Given the description of an element on the screen output the (x, y) to click on. 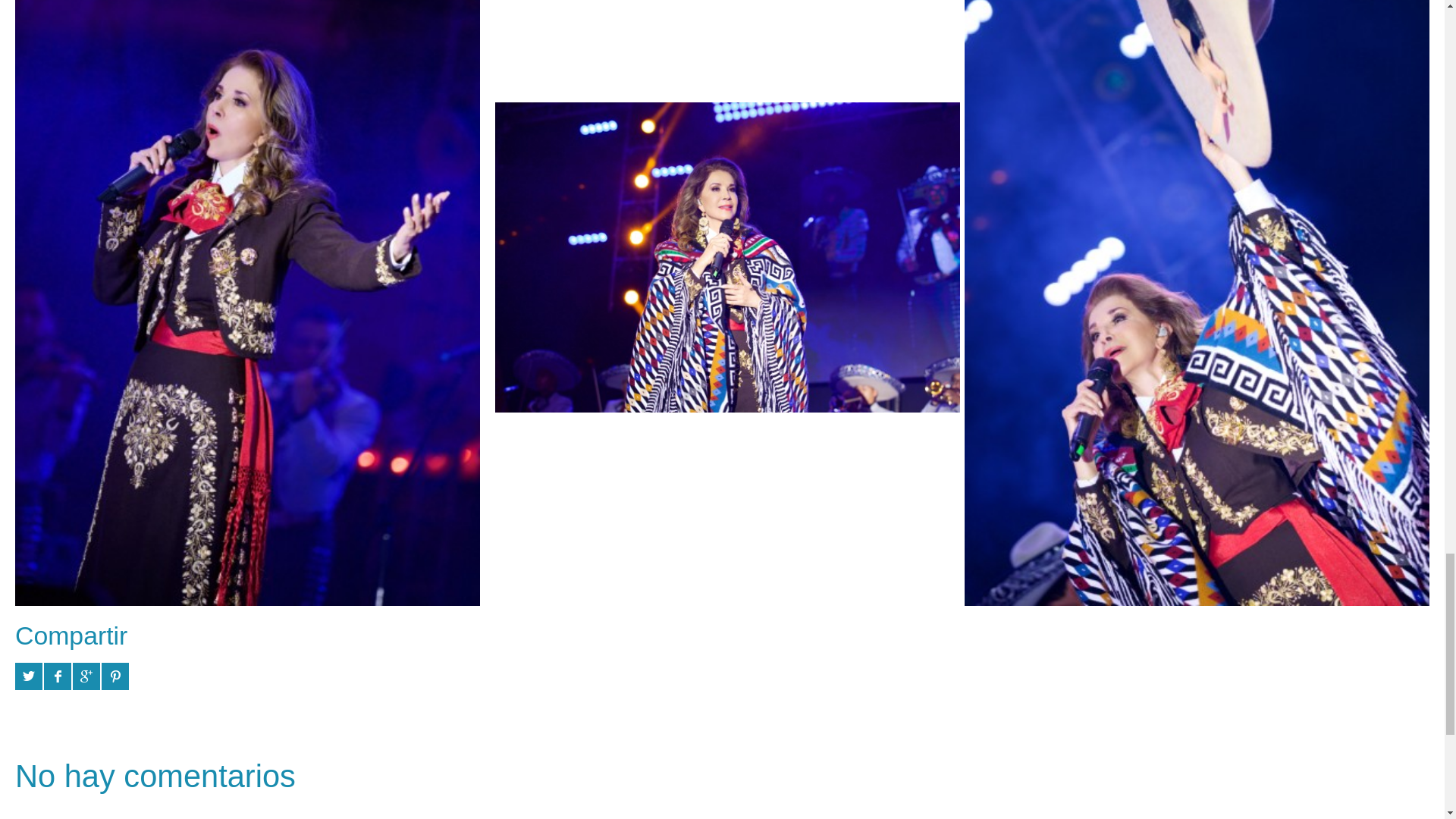
Compartir en Facebook (57, 676)
Pinearlo (115, 676)
Twittear Esto (28, 676)
